Given the description of an element on the screen output the (x, y) to click on. 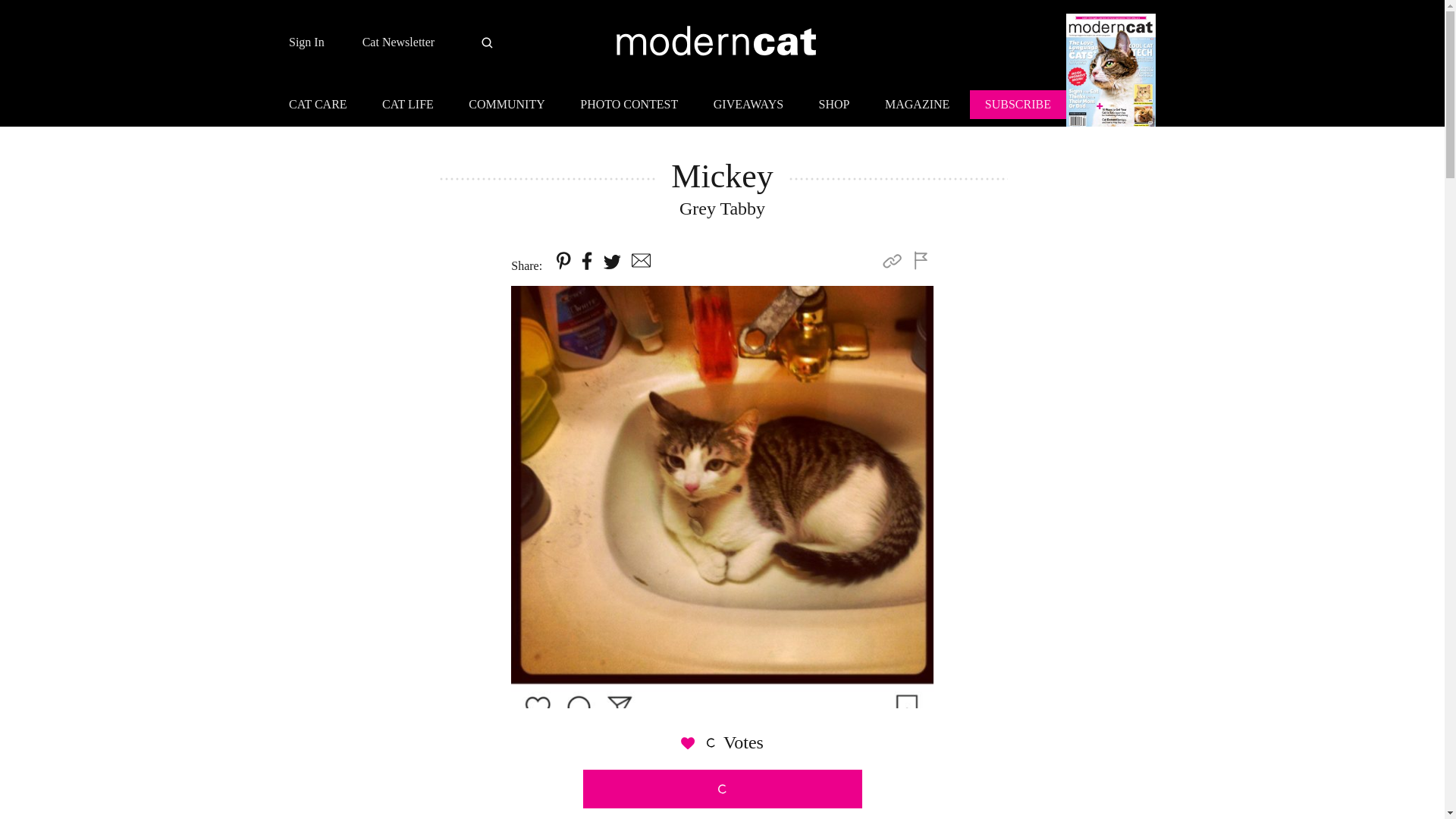
Cat Newsletter (398, 42)
Sign In (306, 42)
CAT LIFE (407, 106)
CAT CARE (325, 106)
